Given the description of an element on the screen output the (x, y) to click on. 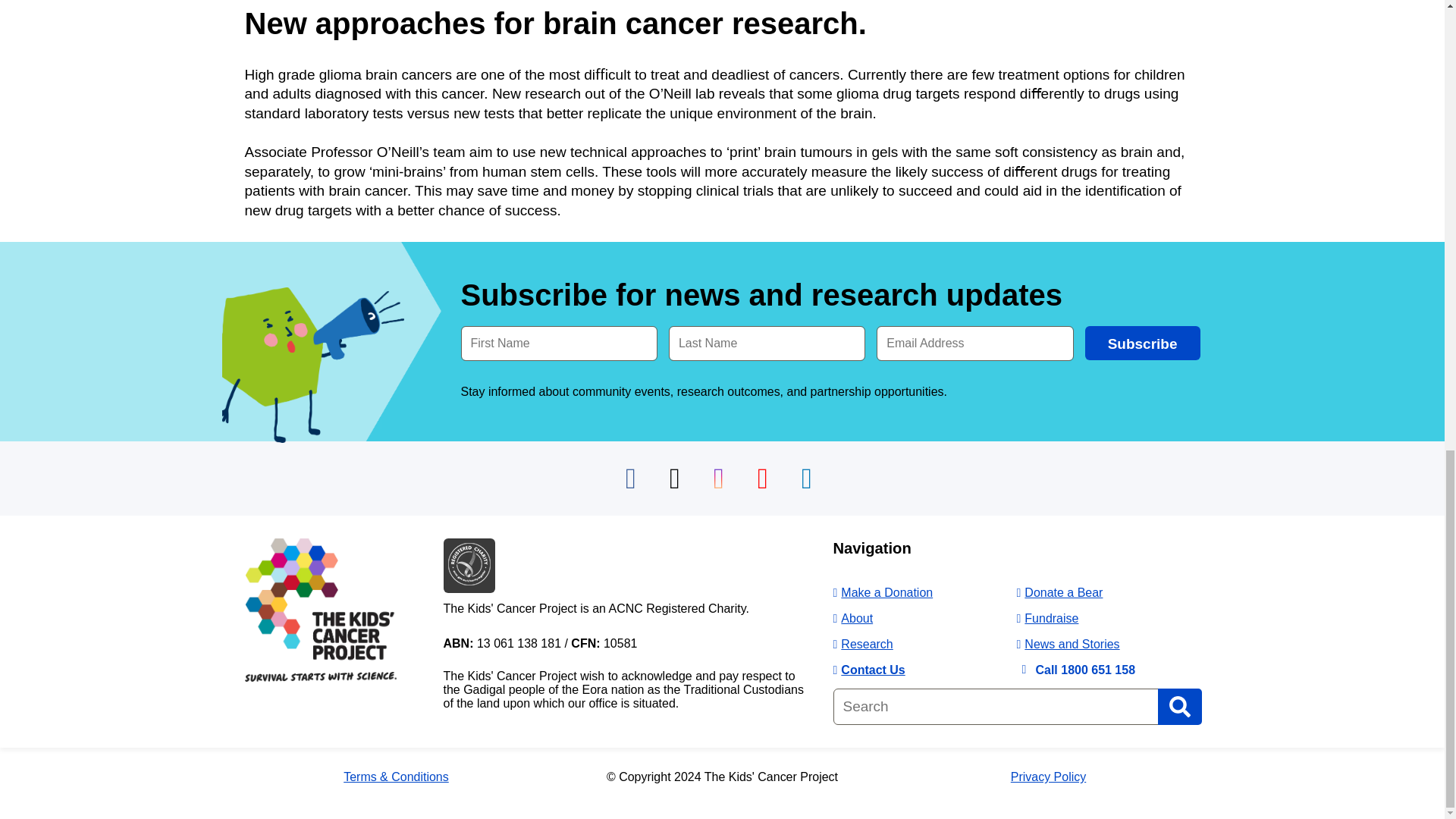
About us (852, 617)
Subscribe (1141, 342)
Privacy Policy (1048, 776)
Donate a Bear (1059, 592)
The Kids Cancer Project (320, 676)
Call 1800 651 158 (1075, 669)
Make a Donation (882, 592)
Contact Us (868, 669)
Terms and Conditions (395, 776)
News and Stories (1067, 644)
Research (862, 644)
Fundraise (1047, 617)
